Given the description of an element on the screen output the (x, y) to click on. 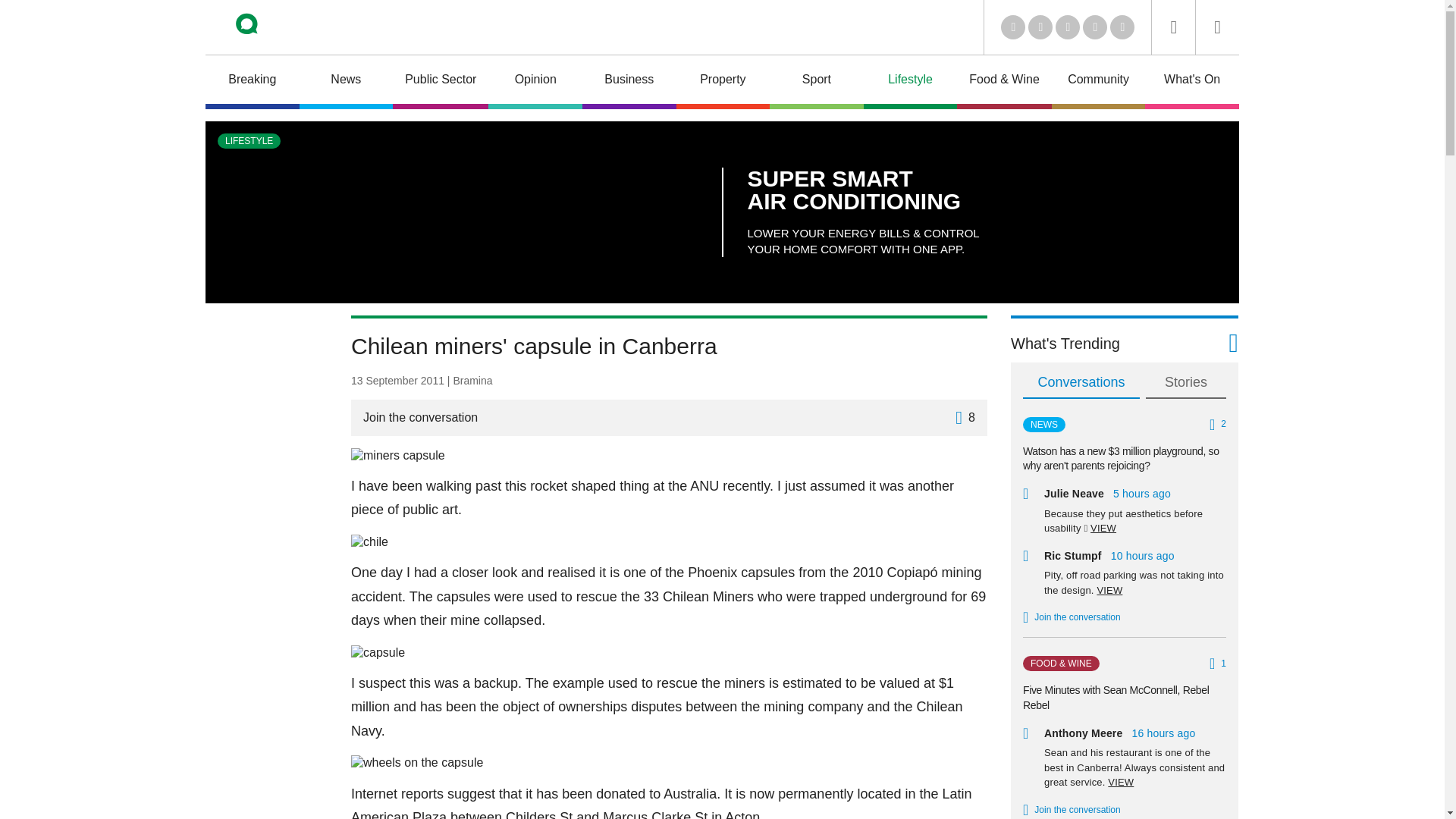
Riotact Home (267, 26)
News (346, 81)
Twitter (1039, 27)
Youtube (1067, 27)
Facebook (1094, 27)
LinkedIn (1013, 27)
Instagram (1121, 27)
Breaking (252, 81)
